Given the description of an element on the screen output the (x, y) to click on. 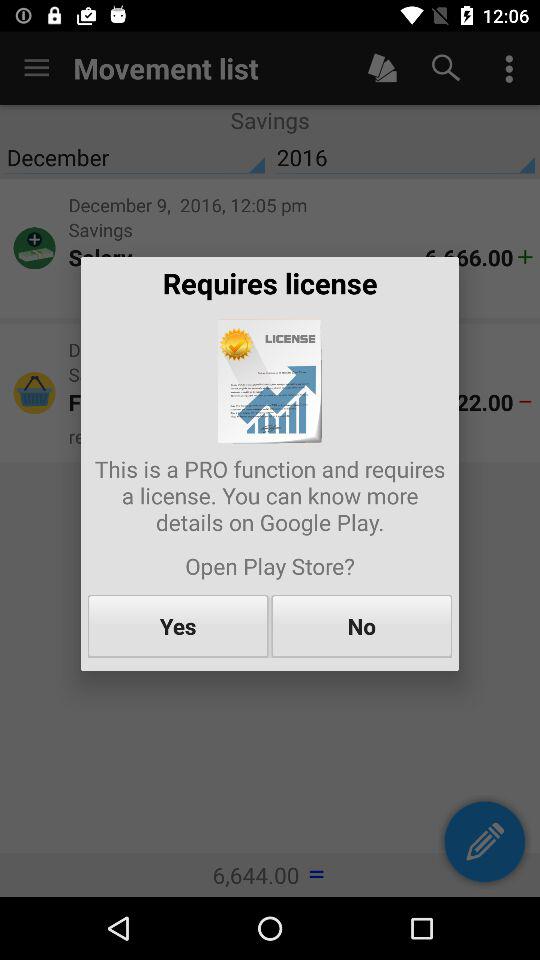
turn on the item below the open play store? icon (361, 625)
